Given the description of an element on the screen output the (x, y) to click on. 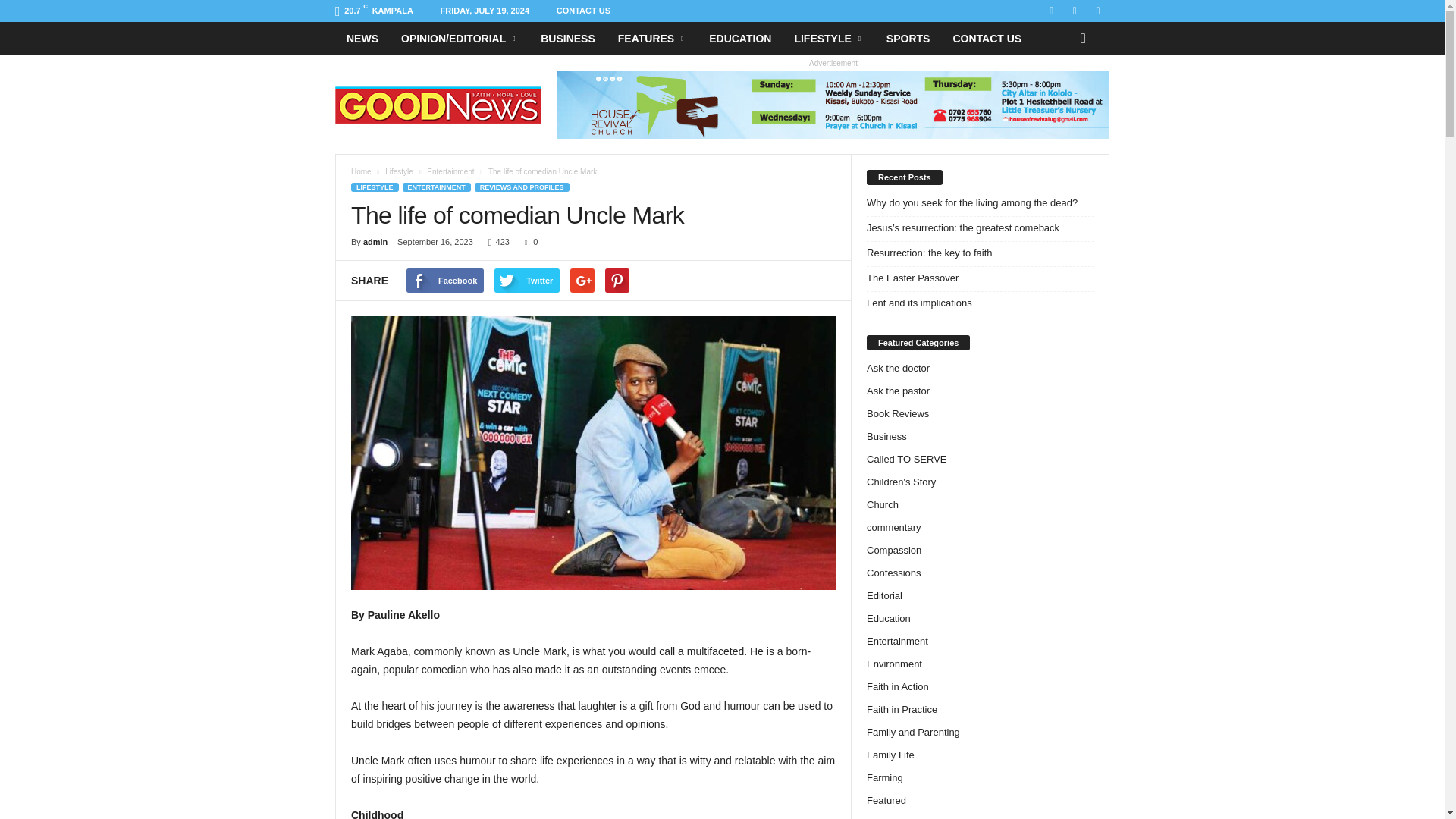
CONTACT US (583, 10)
NEWS (362, 38)
